Given the description of an element on the screen output the (x, y) to click on. 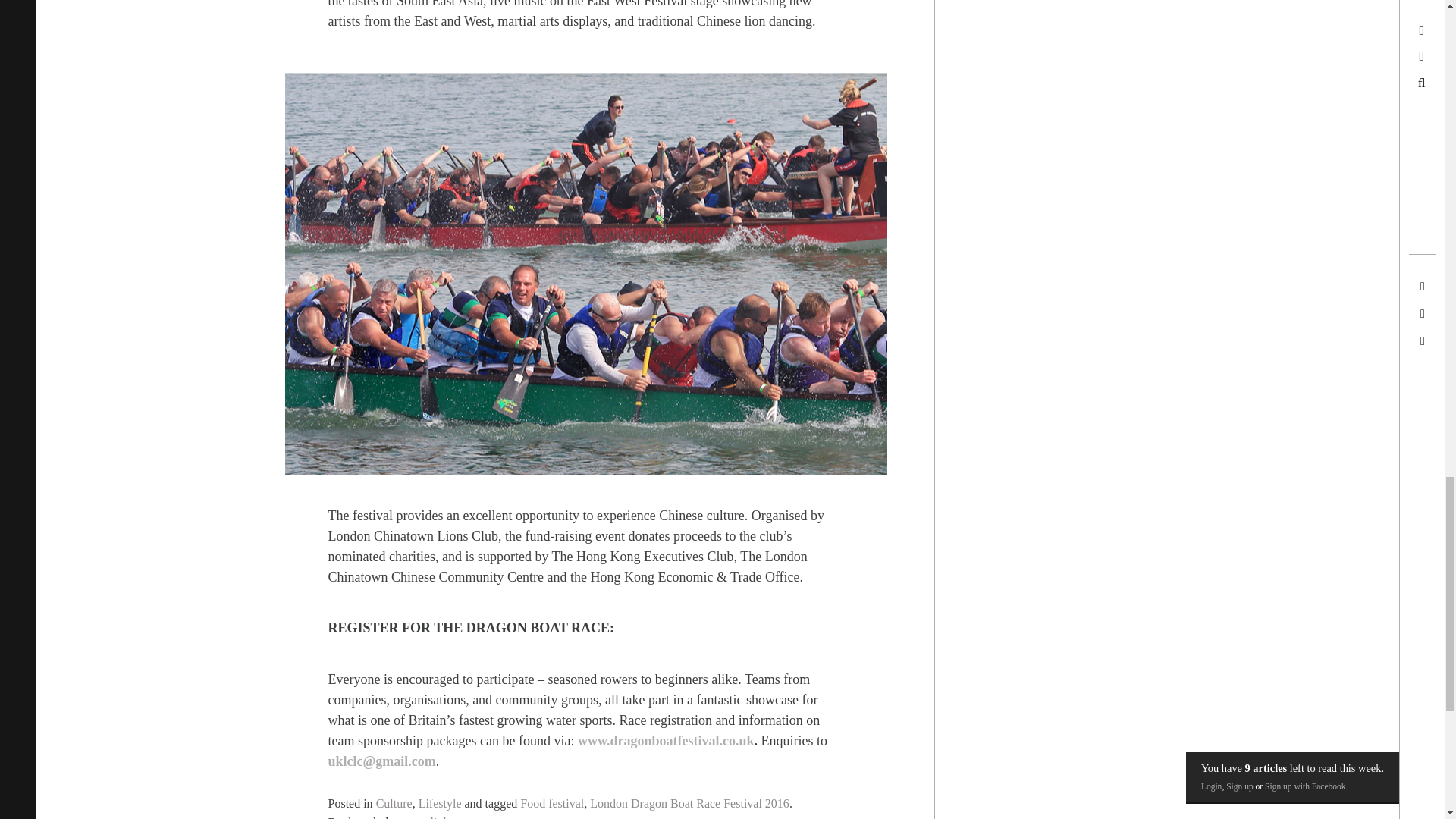
London Dragon Boat Race Festival 2016 (689, 802)
Lifestyle (440, 802)
Culture (393, 802)
www.dragonboatfestival.co.uk (666, 740)
Food festival (551, 802)
permalink (424, 817)
